Given the description of an element on the screen output the (x, y) to click on. 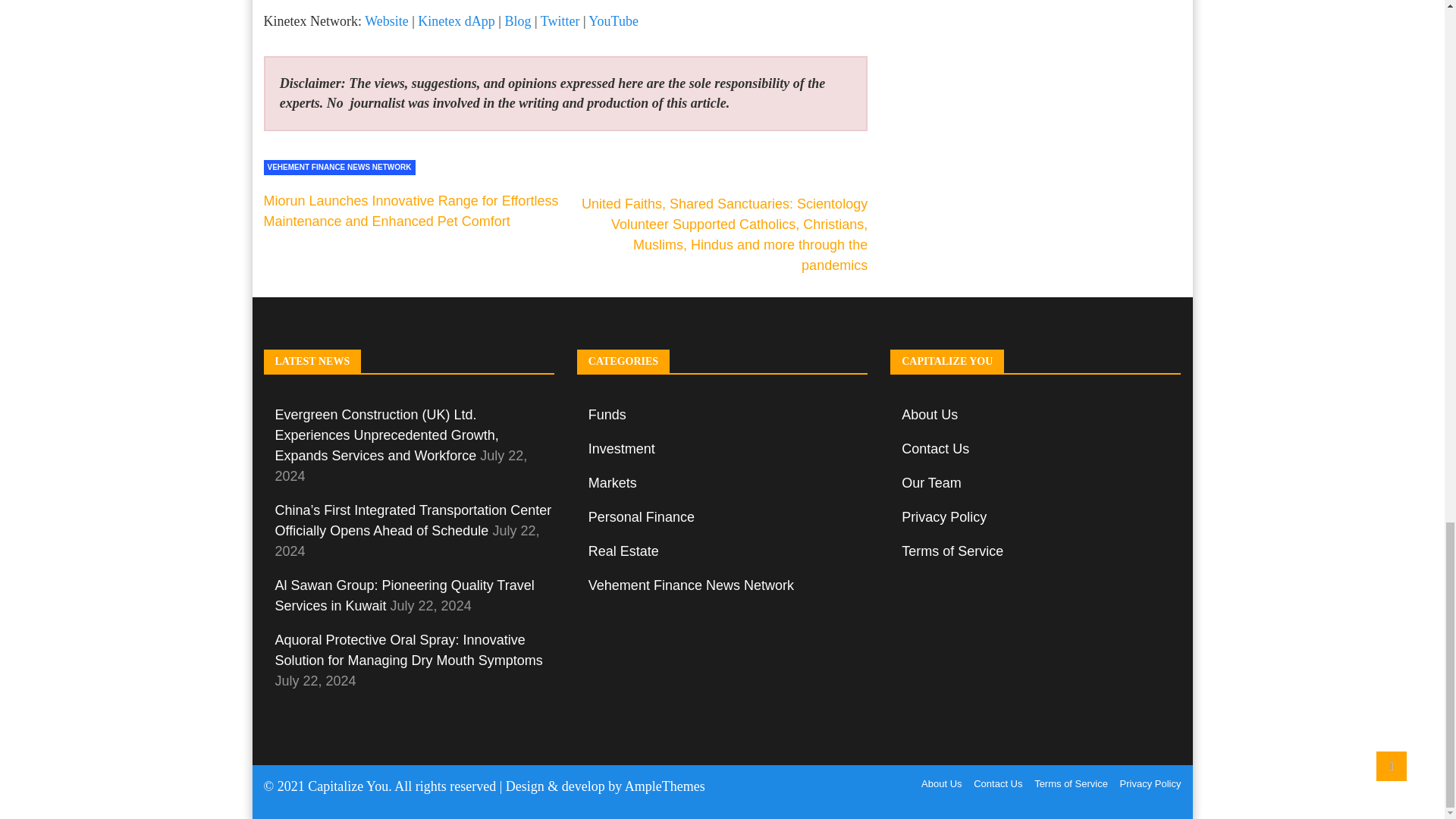
Twitter (559, 20)
Kinetex dApp (456, 20)
Blog (517, 20)
Website (387, 20)
VEHEMENT FINANCE NEWS NETWORK (338, 167)
YouTube (613, 20)
